Given the description of an element on the screen output the (x, y) to click on. 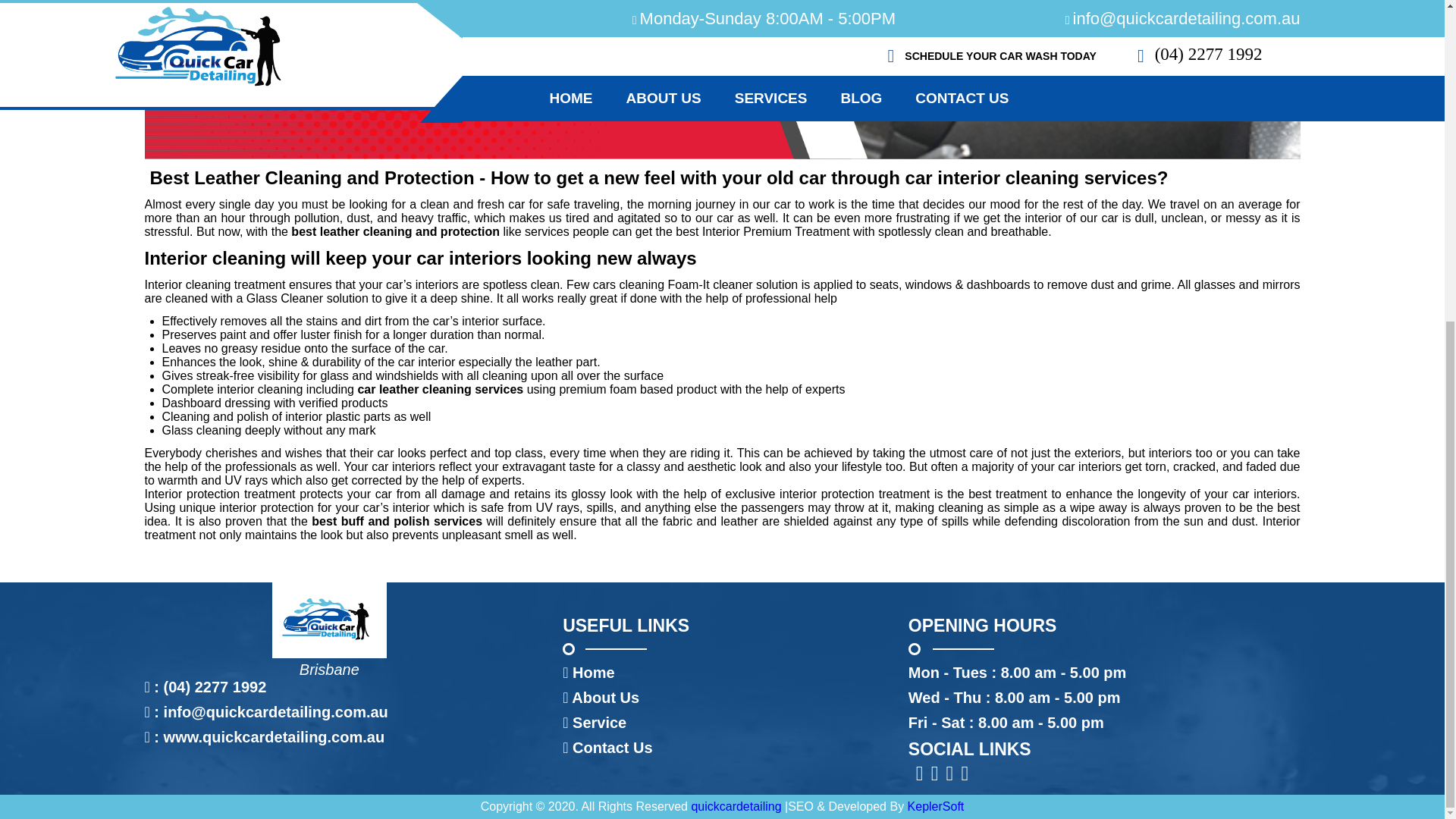
quickcardetailing (735, 806)
Contact Us (612, 747)
KeplerSoft (935, 806)
best leather cleaning and protection (393, 231)
Service (599, 722)
best buff and polish services (394, 521)
Home (593, 672)
About Us (605, 697)
